Given the description of an element on the screen output the (x, y) to click on. 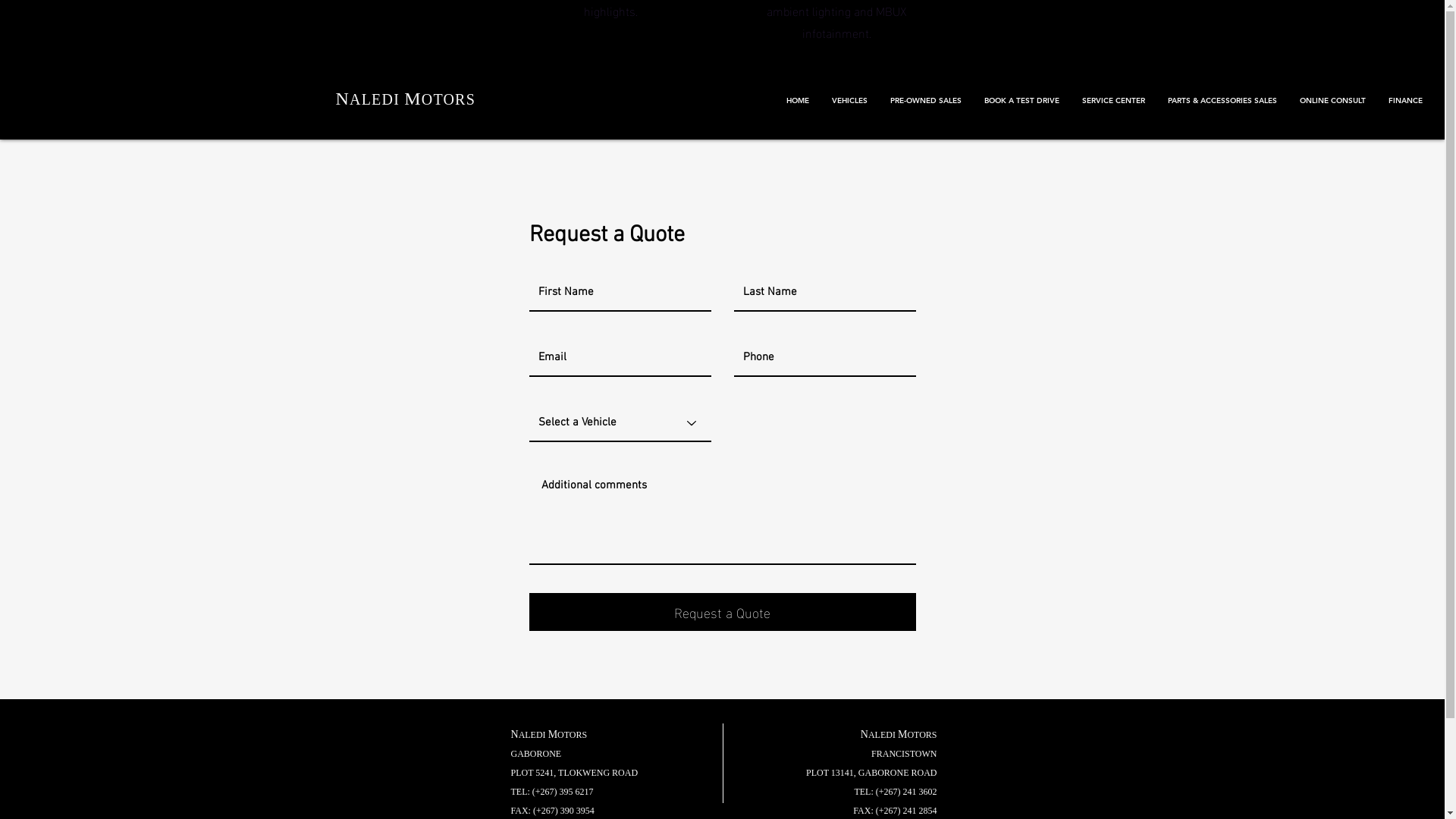
PARTS & ACCESSORIES SALES Element type: text (1222, 100)
Request a Quote Element type: text (722, 611)
HOME Element type: text (797, 100)
VEHICLES Element type: text (849, 100)
FINANCE Element type: text (1405, 100)
ONLINE CONSULT Element type: text (1332, 100)
NALEDI MOTORS Element type: text (405, 98)
SERVICE CENTER Element type: text (1113, 100)
BOOK A TEST DRIVE Element type: text (1021, 100)
PRE-OWNED SALES Element type: text (925, 100)
